Given the description of an element on the screen output the (x, y) to click on. 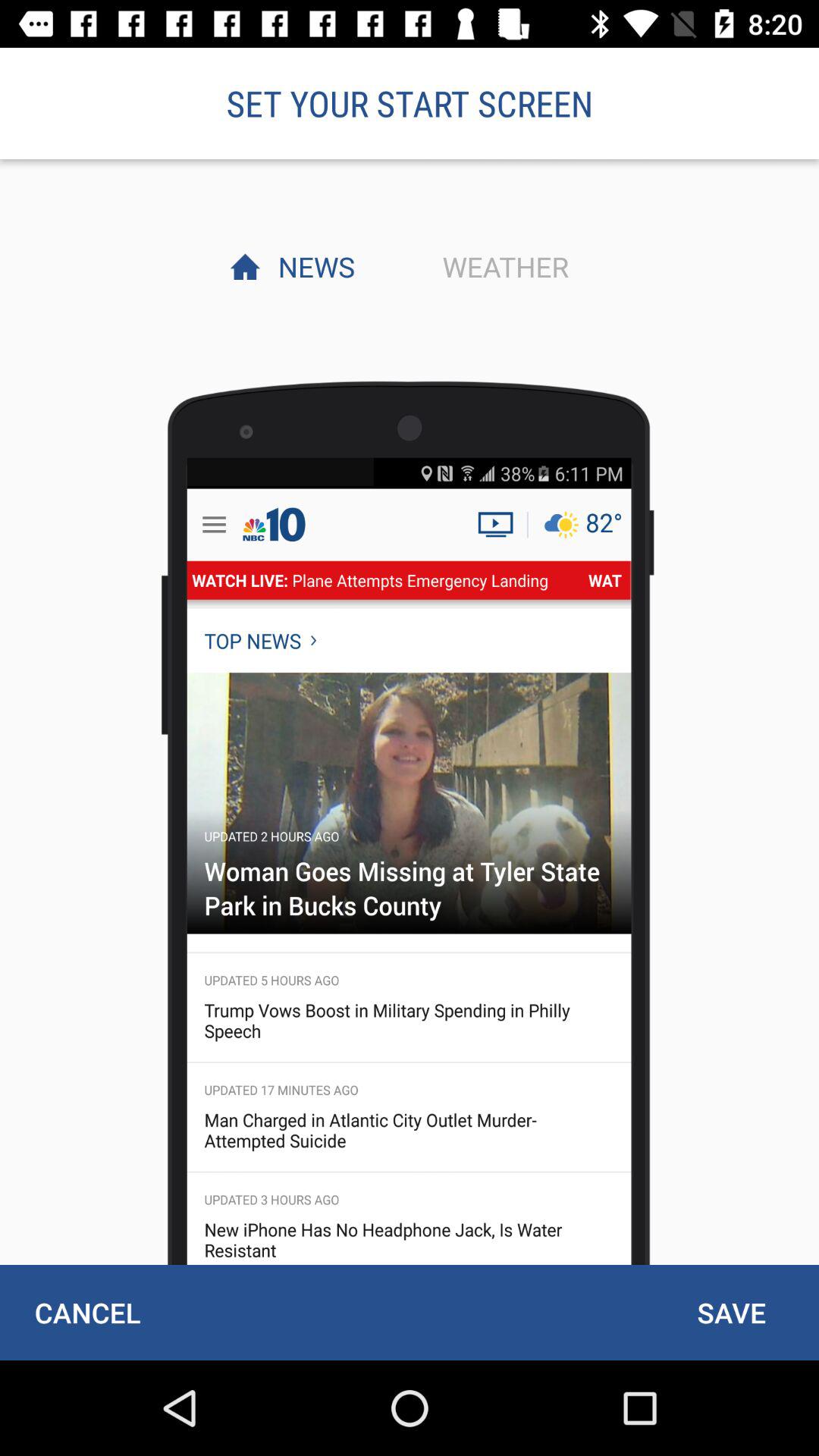
select the item next to news (501, 266)
